Given the description of an element on the screen output the (x, y) to click on. 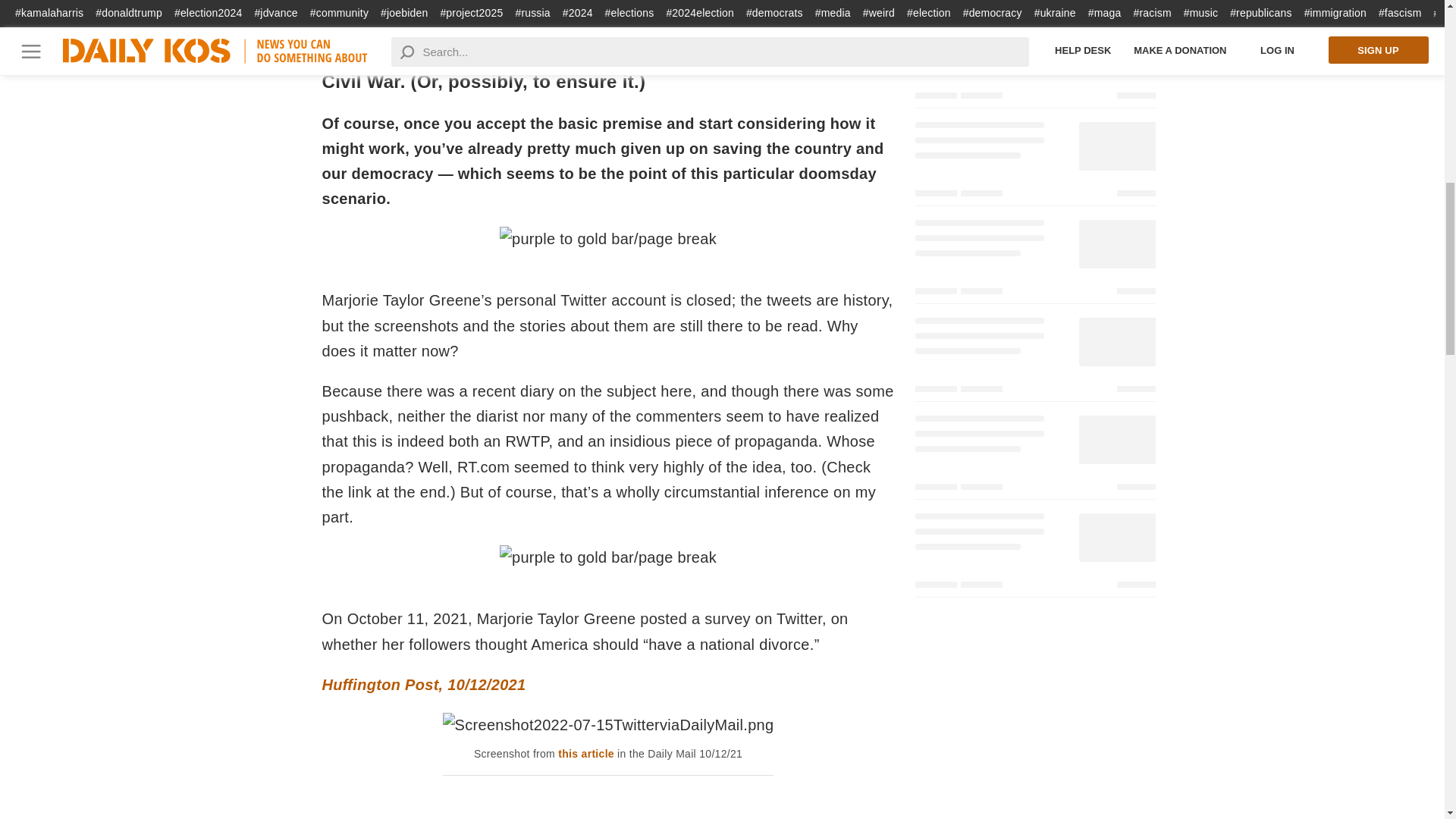
Loading... (1034, 553)
Loading... (1034, 6)
Loading... (1034, 63)
Loading... (1034, 357)
Loading... (1034, 454)
Loading... (1034, 259)
Loading... (1034, 161)
